Given the description of an element on the screen output the (x, y) to click on. 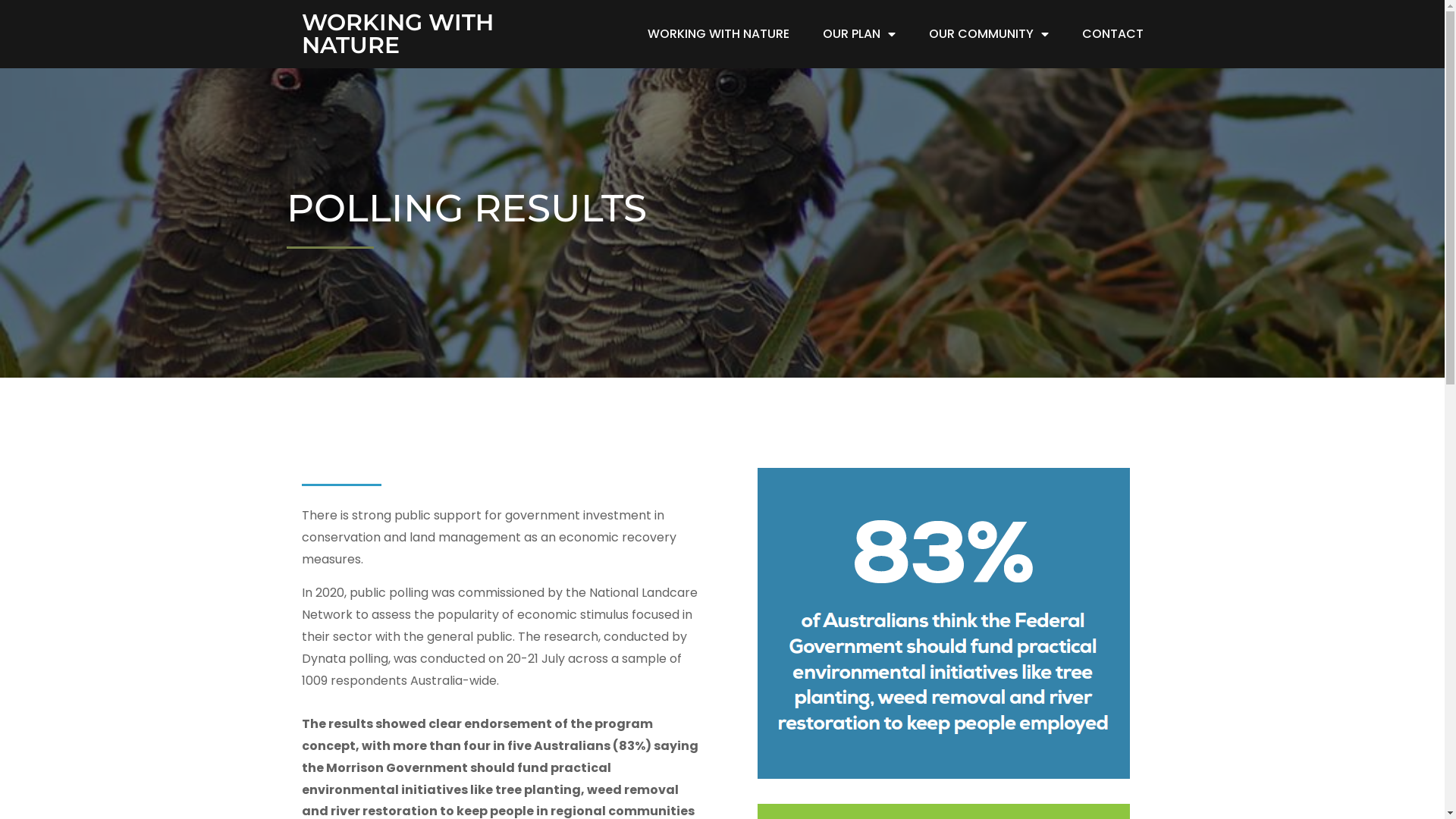
WORKING WITH NATURE Element type: text (718, 33)
OUR COMMUNITY Element type: text (988, 33)
OUR PLAN Element type: text (858, 33)
WORKING WITH NATURE Element type: text (411, 33)
CONTACT Element type: text (1111, 33)
Screen Shot 2021-03-11 at 11.31.30 am Element type: hover (943, 623)
